Given the description of an element on the screen output the (x, y) to click on. 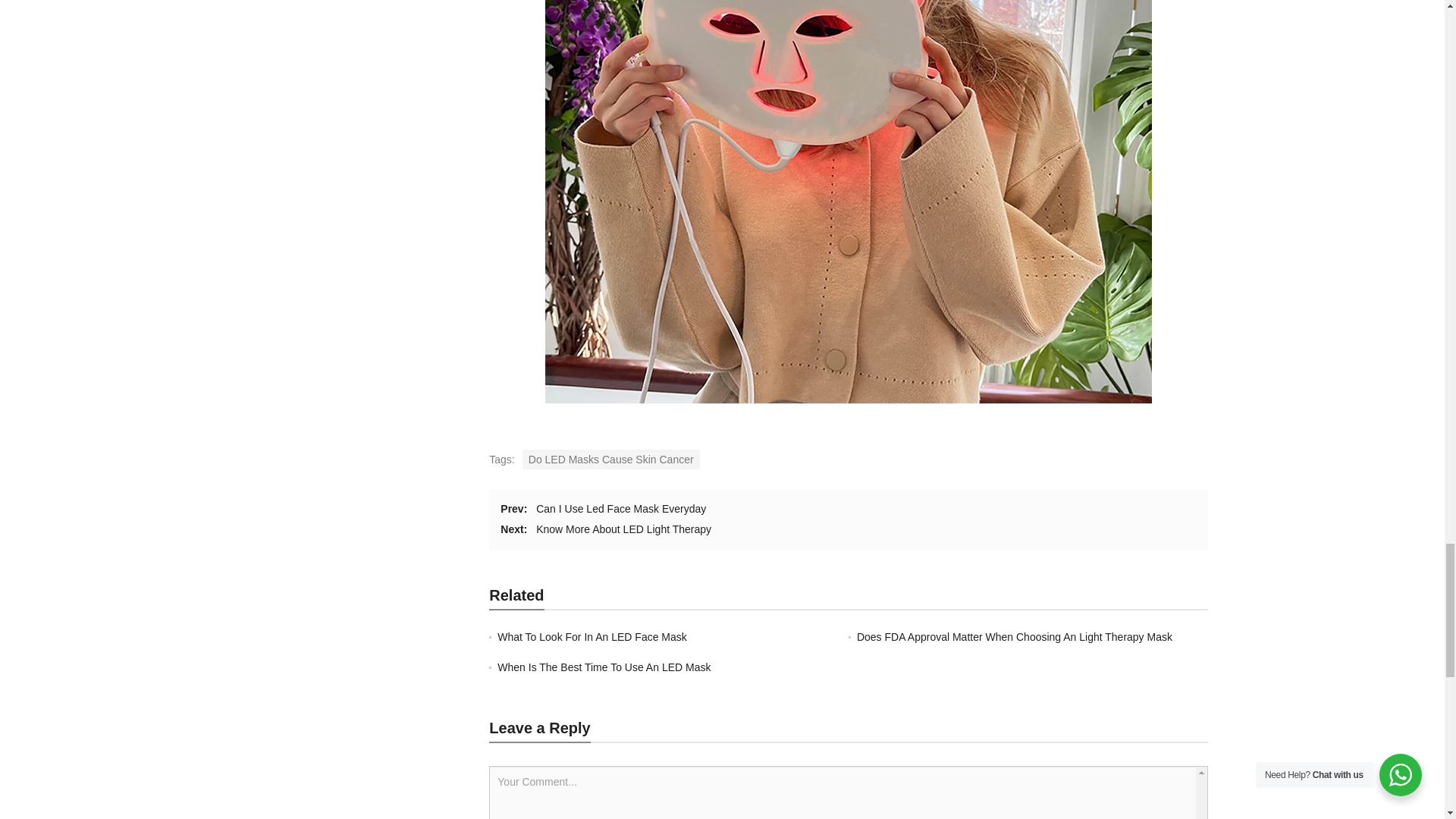
Do LED Masks Cause Skin Cancer (611, 459)
Know More About LED Light Therapy (623, 529)
What To Look For In An LED Face Mask (592, 636)
Can I Use Led Face Mask Everyday (620, 508)
Does FDA Approval Matter When Choosing An Light Therapy Mask (1014, 636)
Does FDA Approval Matter When Choosing An Light Therapy Mask (1014, 636)
When Is The Best Time To Use An LED Mask (603, 666)
What To Look For In An LED Face Mask (592, 636)
